Given the description of an element on the screen output the (x, y) to click on. 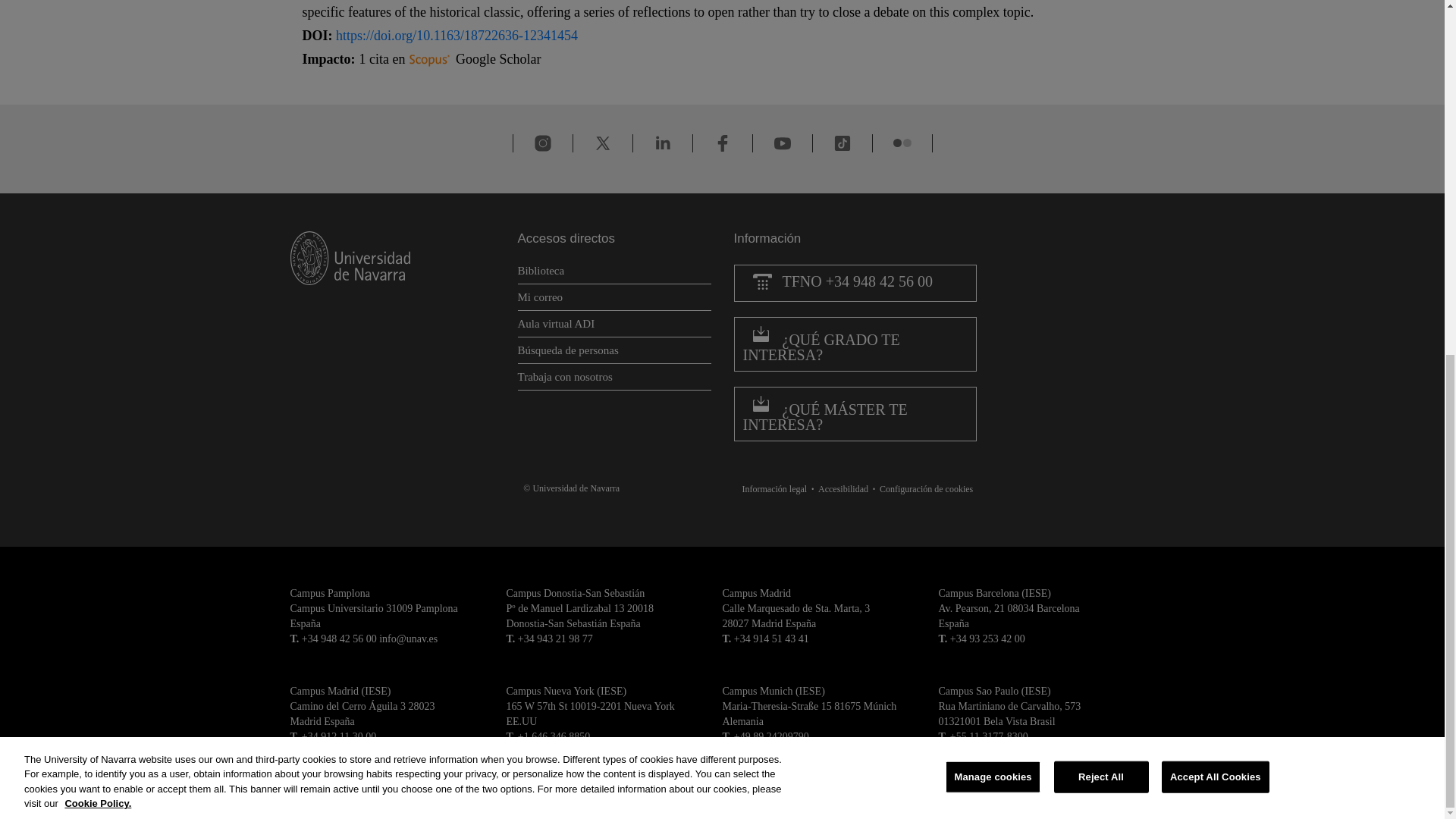
1 cita en (404, 58)
Facebook (721, 143)
Instagram (542, 143)
X (601, 143)
Google Scholar (497, 58)
TikTok (841, 143)
Youtube (782, 143)
Accesibilidad (847, 489)
Linkedin (662, 143)
